Given the description of an element on the screen output the (x, y) to click on. 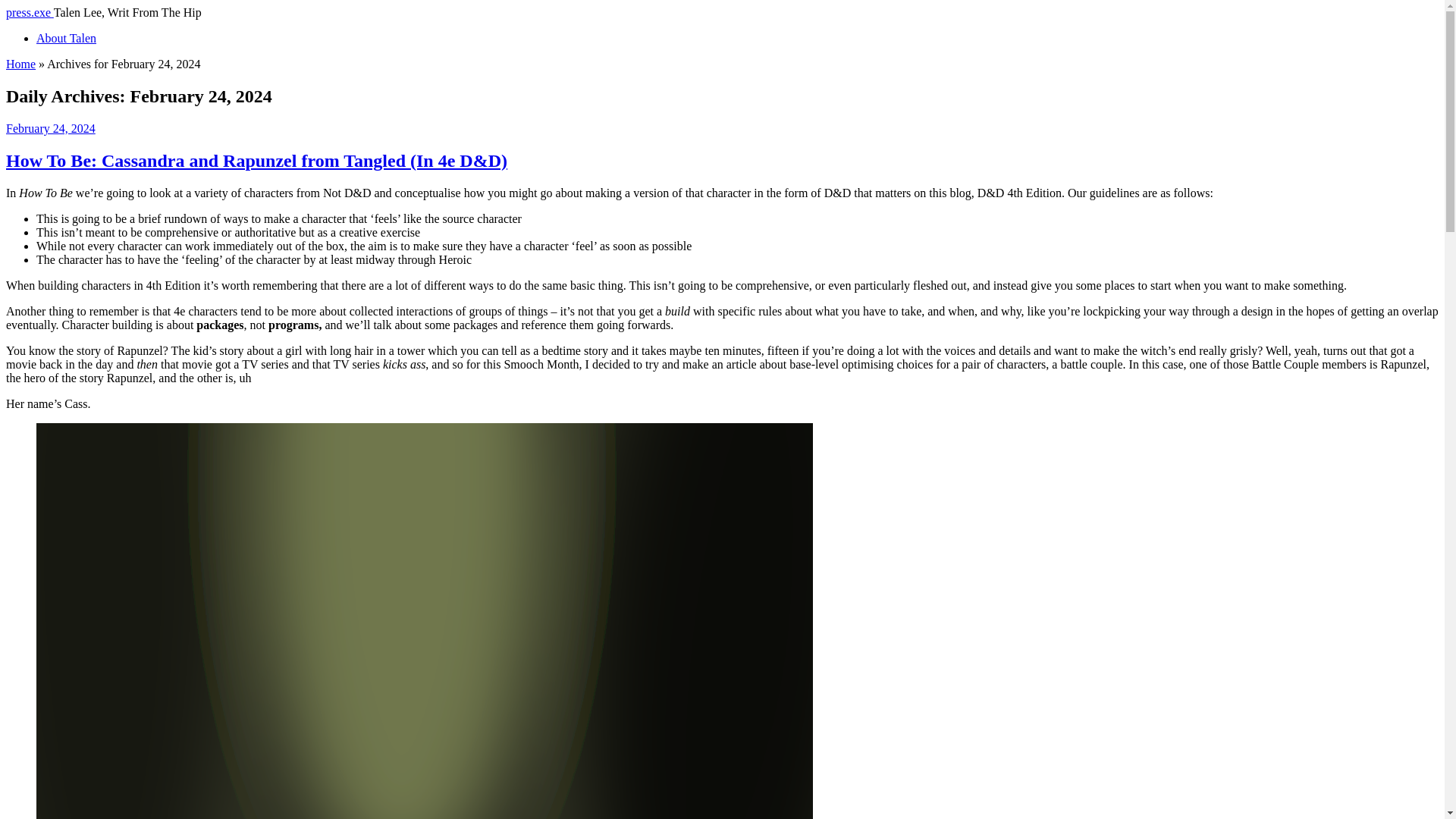
About Talen (66, 38)
press.exe (29, 11)
Home (19, 63)
